Given the description of an element on the screen output the (x, y) to click on. 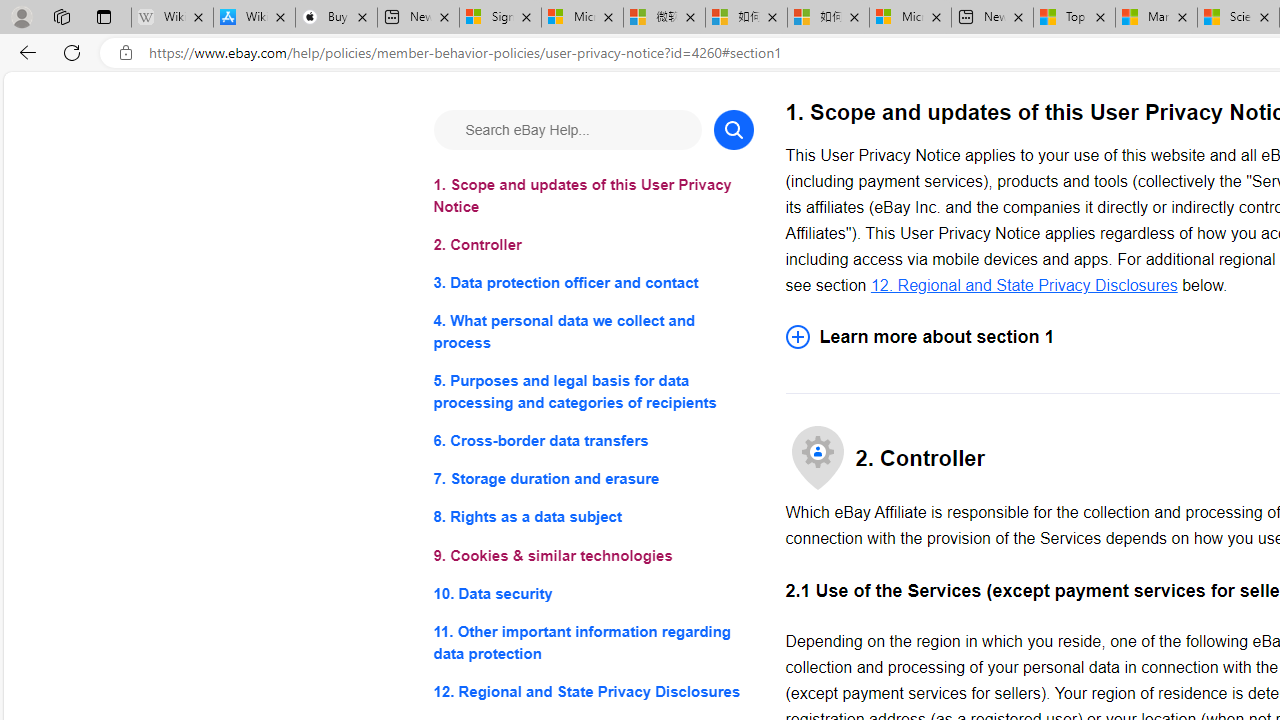
Top Stories - MSN (1074, 17)
Microsoft Services Agreement (582, 17)
4. What personal data we collect and process (592, 332)
11. Other important information regarding data protection (592, 642)
6. Cross-border data transfers (592, 440)
8. Rights as a data subject (592, 517)
10. Data security (592, 592)
7. Storage duration and erasure (592, 479)
10. Data security (592, 592)
